Given the description of an element on the screen output the (x, y) to click on. 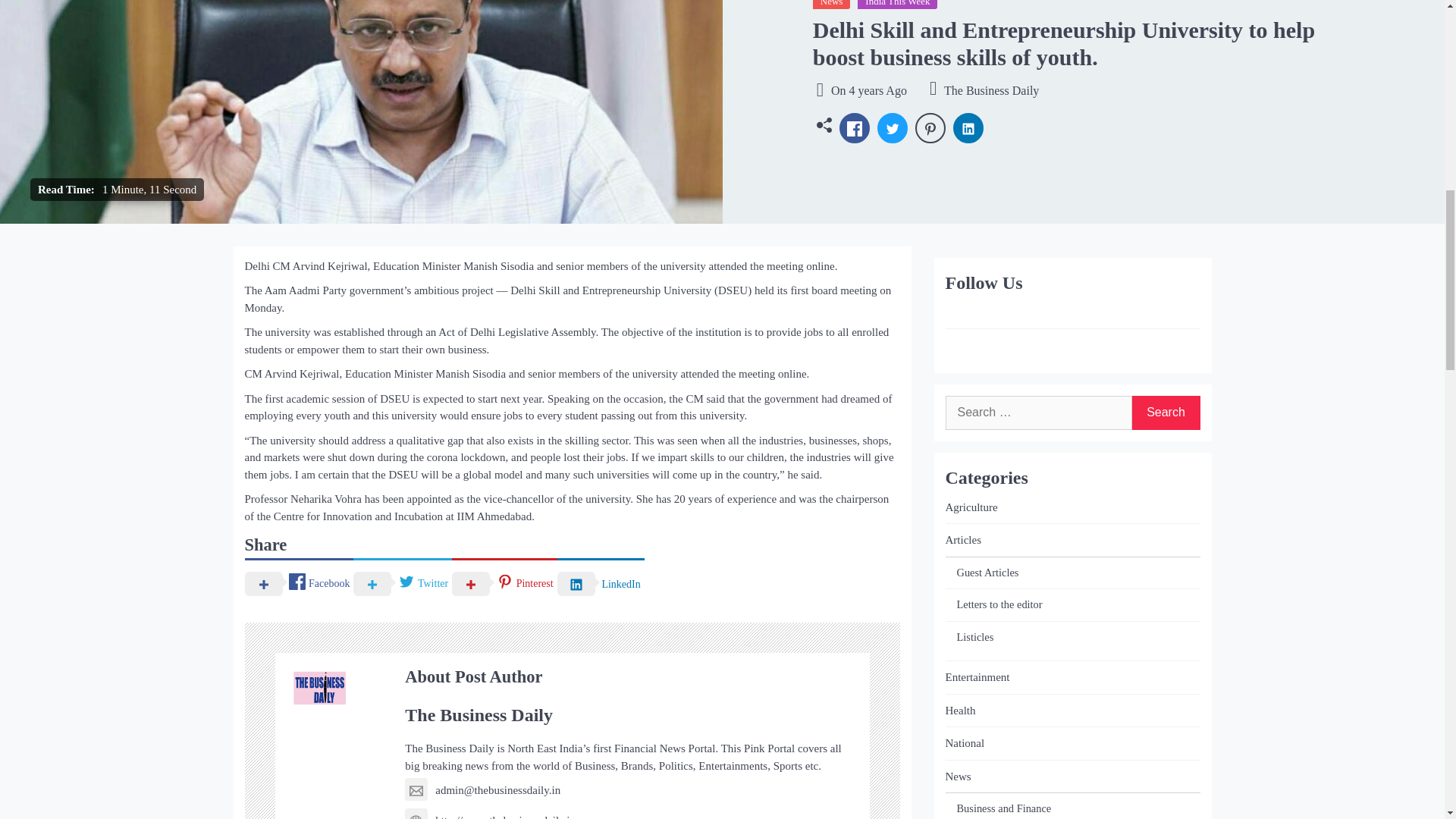
India This Week (897, 4)
News (831, 4)
Search (1165, 412)
The Business Daily (984, 90)
Facebook (298, 582)
4 years Ago (876, 90)
Search (1165, 412)
